Given the description of an element on the screen output the (x, y) to click on. 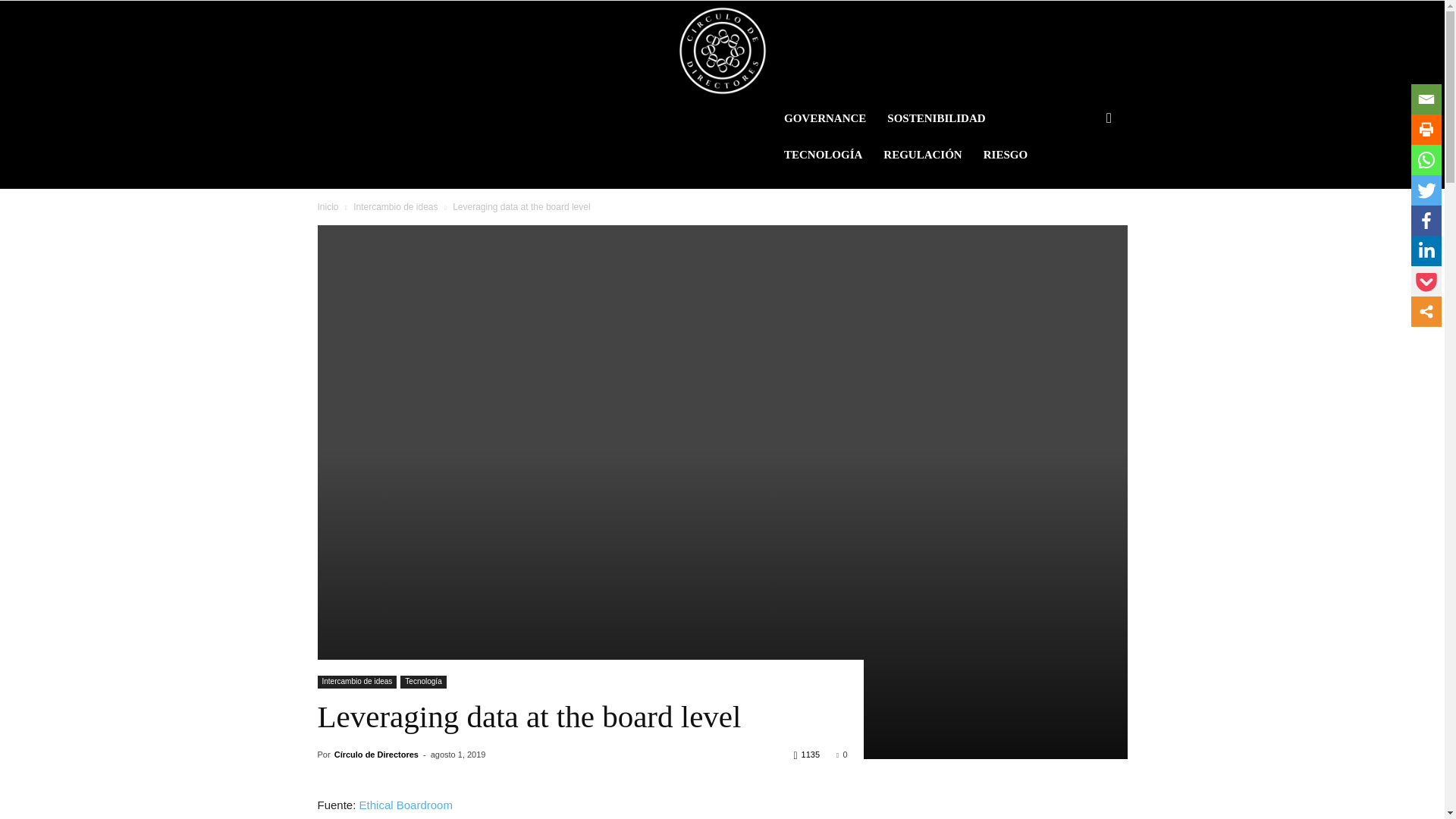
Ver todas las publicaciones en Intercambio de ideas (395, 206)
SOSTENIBILIDAD (935, 117)
Print (1425, 129)
GOVERNANCE (824, 117)
Inicio (327, 206)
Pocket (1425, 281)
More (1425, 311)
Twitter (1425, 190)
RIESGO (1005, 154)
Email (1425, 99)
